Given the description of an element on the screen output the (x, y) to click on. 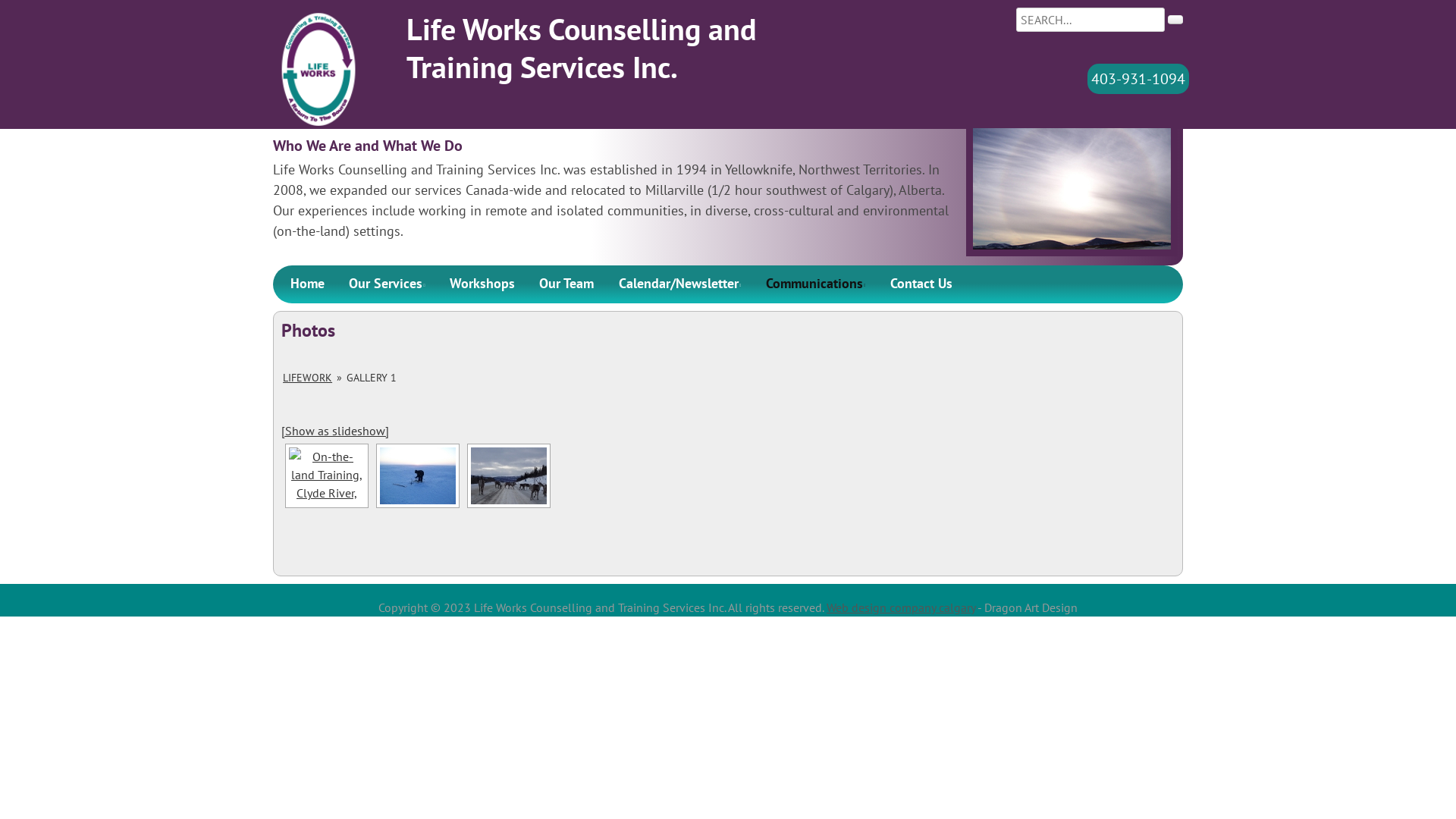
LIFEWORK Element type: text (307, 377)
Contact Us Element type: text (921, 283)
On-the-land Training, Clyde River, NU Element type: hover (326, 475)
100_1677.jpg Element type: hover (1071, 188)
403-931-1094 Element type: text (1138, 78)
Communications Element type: text (815, 283)
Our Services Element type: text (386, 283)
Life Works Counselling and Training Services Inc. Element type: text (581, 47)
Workshops Element type: text (481, 283)
Calendar/Newsletter Element type: text (679, 283)
[Show as slideshow] Element type: text (335, 430)
Our Team Element type: text (566, 283)
Home Element type: text (306, 283)
Fish, Hunt and Heal Workshop, Cambrdge Bay, NU Element type: hover (417, 475)
Web design company calgary Element type: text (900, 607)
Caribou Crossing on Road to Watson Lake, YT Element type: hover (508, 475)
Skip to content Element type: text (312, 274)
